Given the description of an element on the screen output the (x, y) to click on. 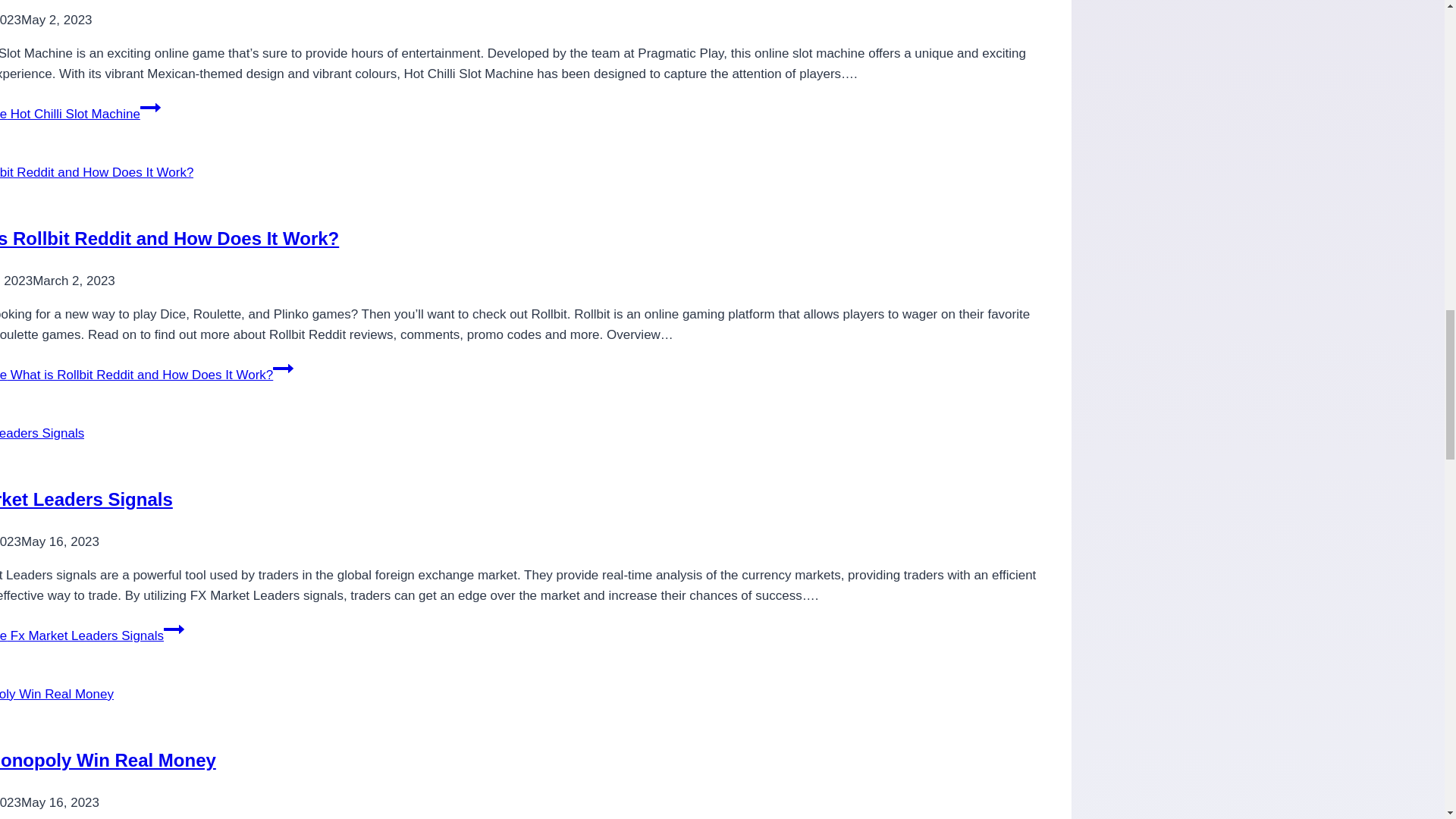
Play Monopoly Win Real Money (107, 760)
Fx Market Leaders Signals (86, 498)
Continue (173, 629)
Continue (283, 368)
Read More Fx Market Leaders SignalsContinue (92, 635)
Read More Hot Chilli Slot MachineContinue (80, 114)
Continue (149, 107)
What is Rollbit Reddit and How Does It Work? (169, 238)
